Given the description of an element on the screen output the (x, y) to click on. 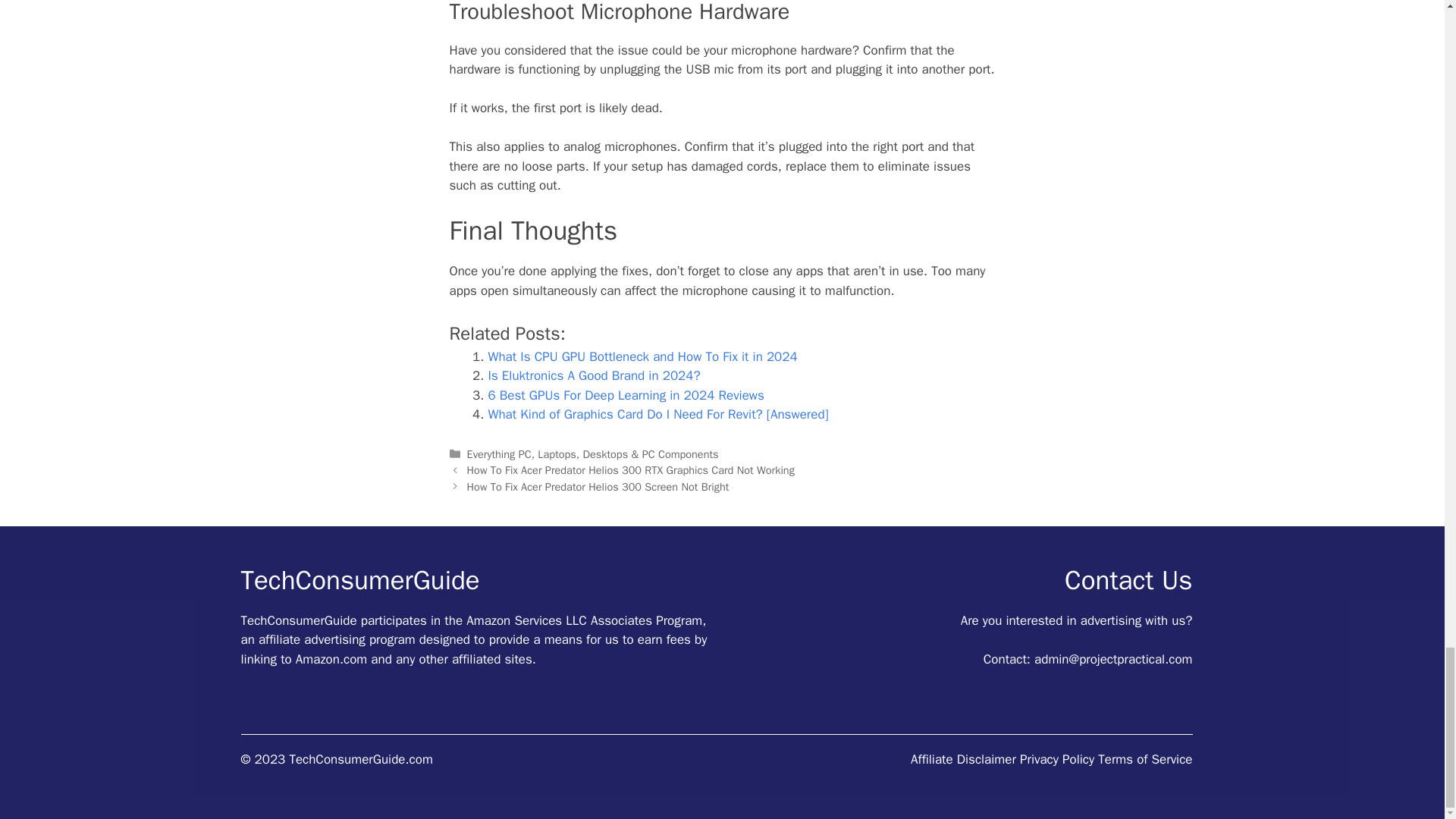
6 Best GPUs For Deep Learning in 2024 Reviews (625, 395)
What Is CPU GPU Bottleneck and How To Fix it in 2024 (642, 356)
Is Eluktronics A Good Brand in 2024? (593, 375)
